Given the description of an element on the screen output the (x, y) to click on. 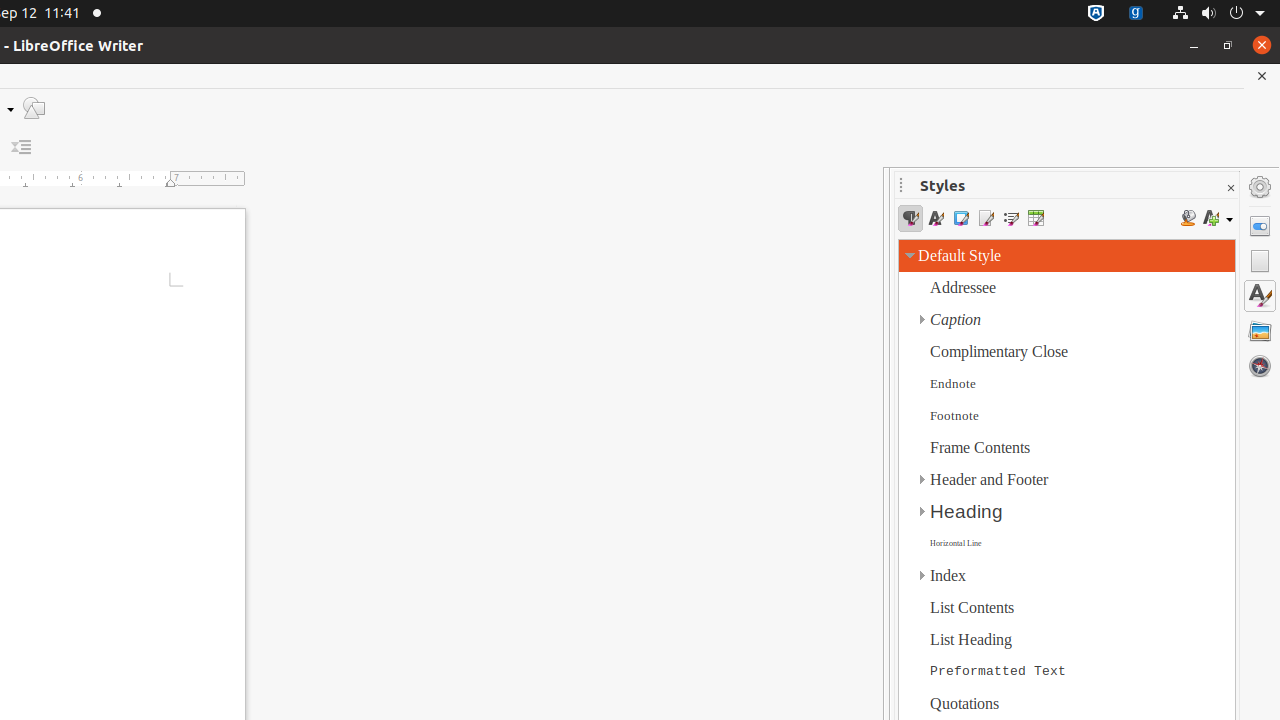
Page Element type: radio-button (1260, 261)
Decrease Element type: push-button (21, 147)
Character Styles Element type: push-button (935, 218)
:1.72/StatusNotifierItem Element type: menu (1096, 13)
Page Styles Element type: push-button (985, 218)
